Given the description of an element on the screen output the (x, y) to click on. 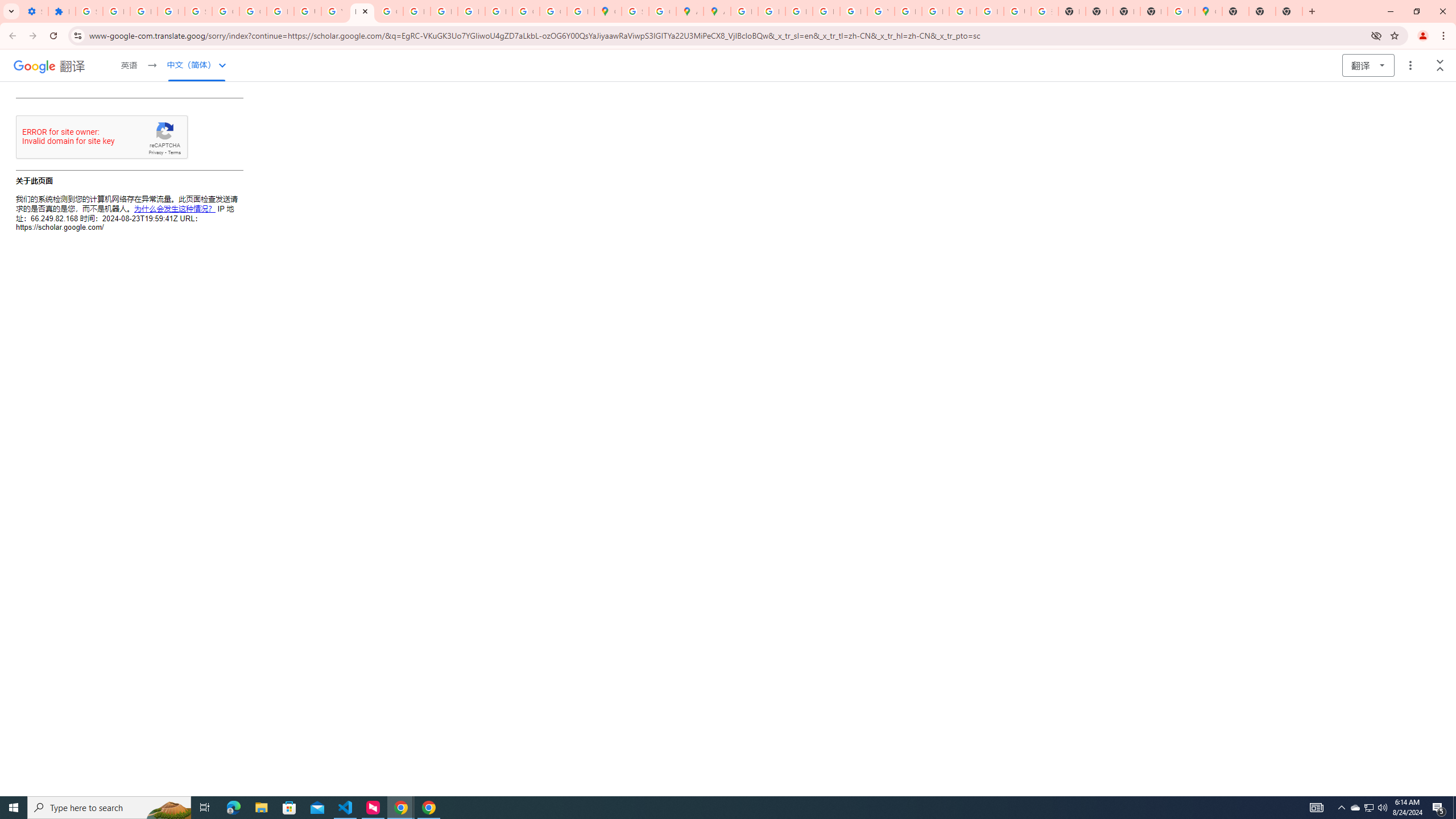
Sign in - Google Accounts (634, 11)
New Tab (1262, 11)
New Tab (1289, 11)
